Given the description of an element on the screen output the (x, y) to click on. 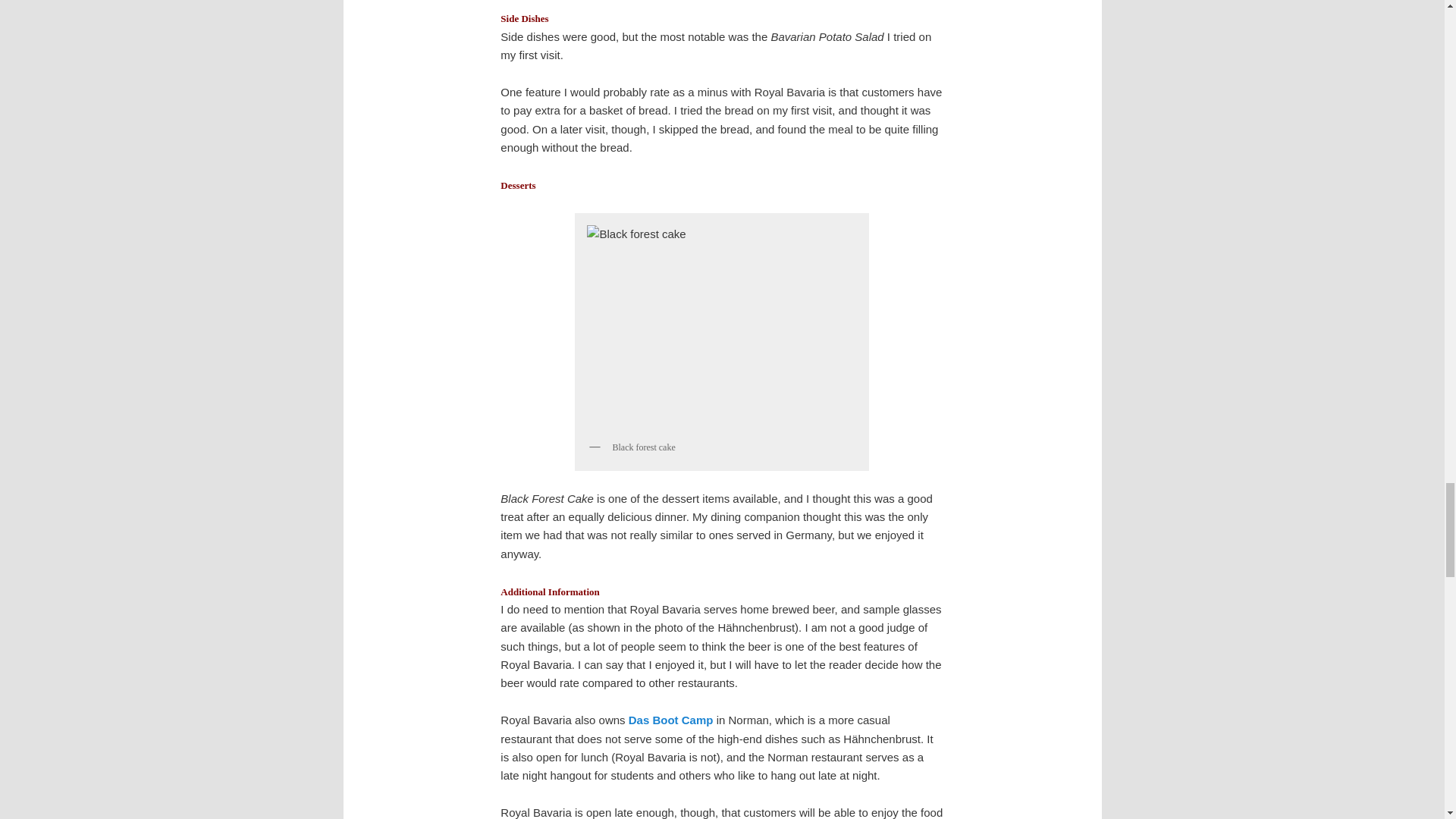
Das Boot Camp (670, 719)
